Given the description of an element on the screen output the (x, y) to click on. 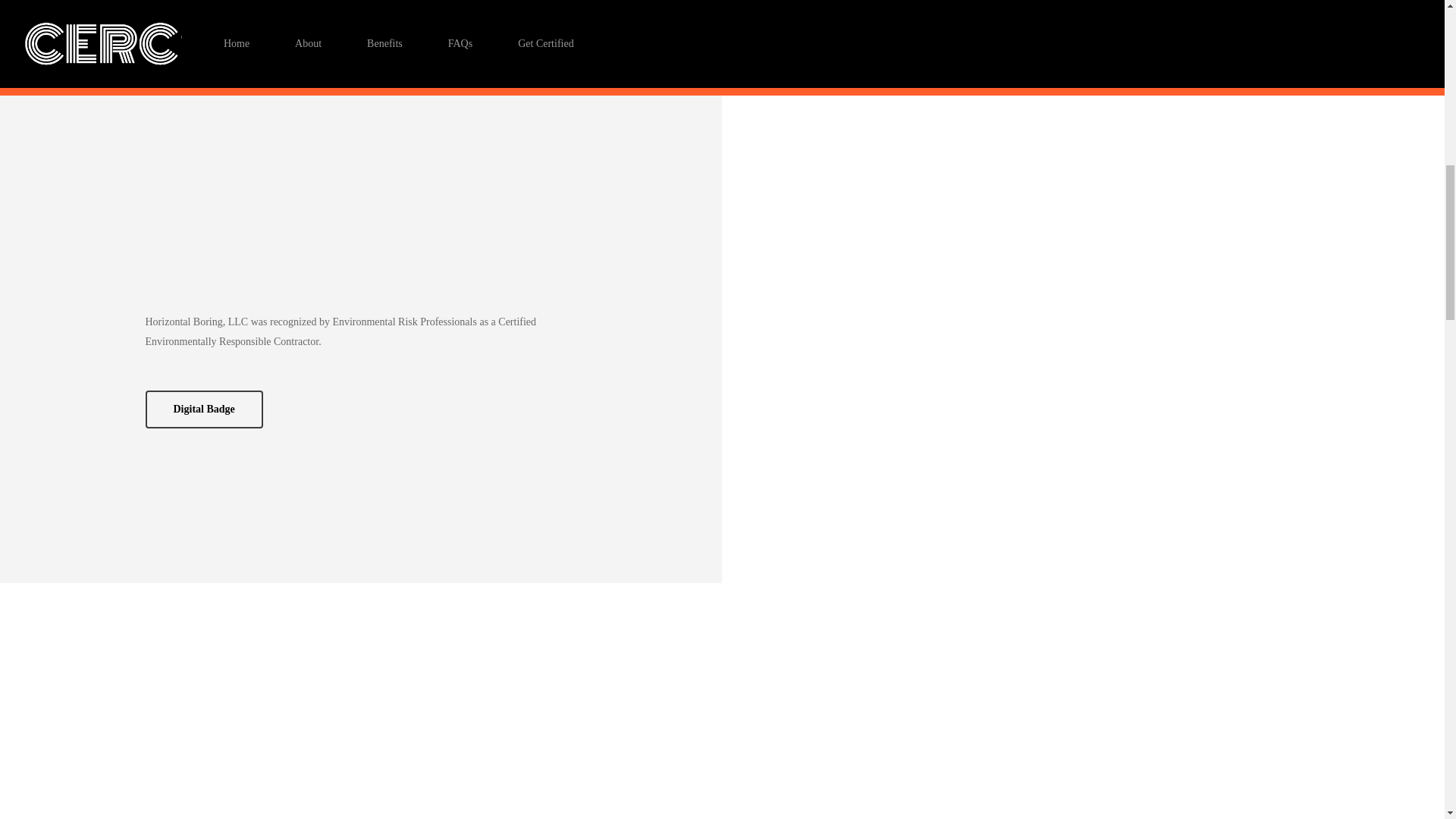
Digital Badge (204, 409)
